Given the description of an element on the screen output the (x, y) to click on. 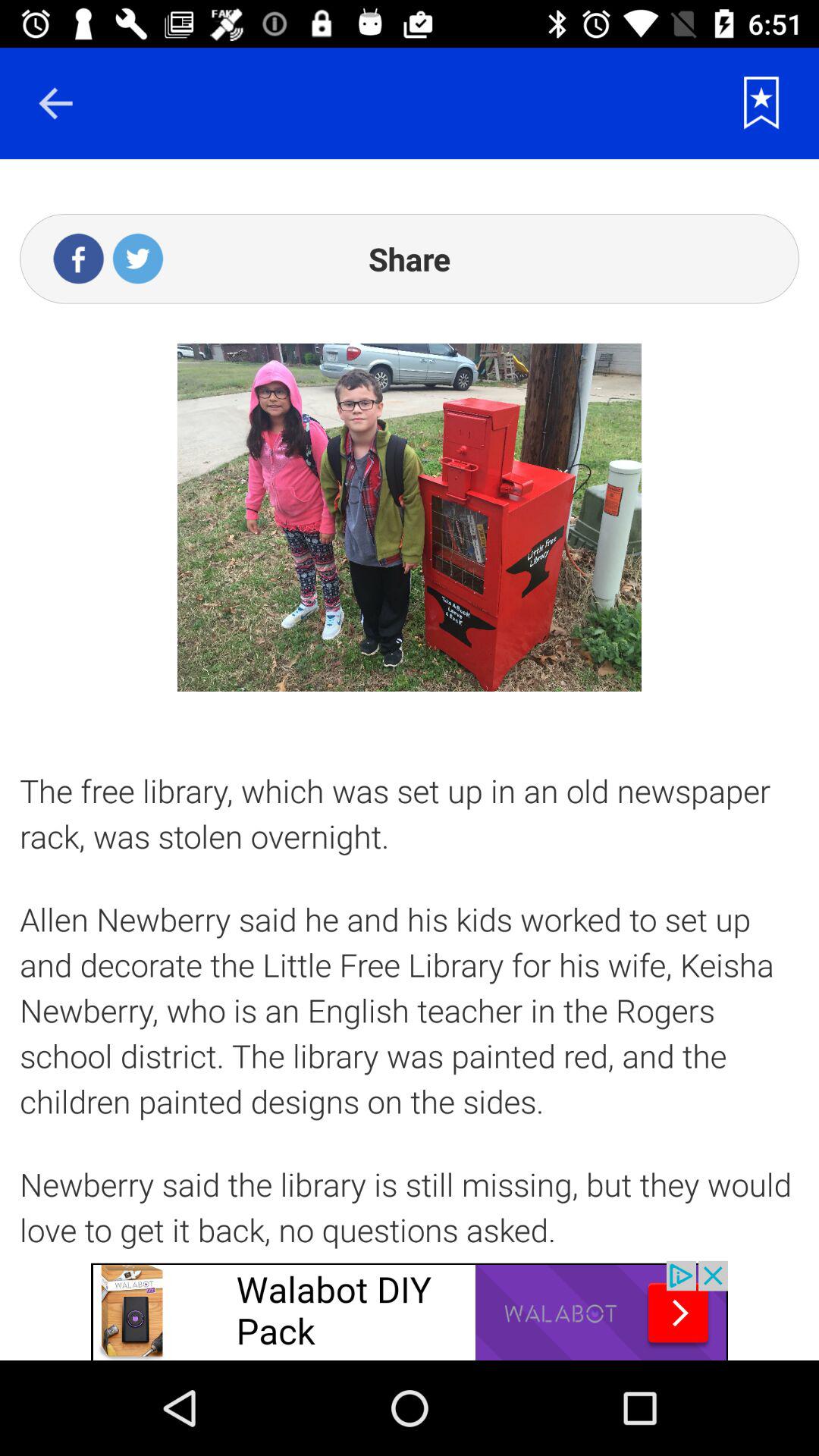
bookmark page (761, 102)
